Given the description of an element on the screen output the (x, y) to click on. 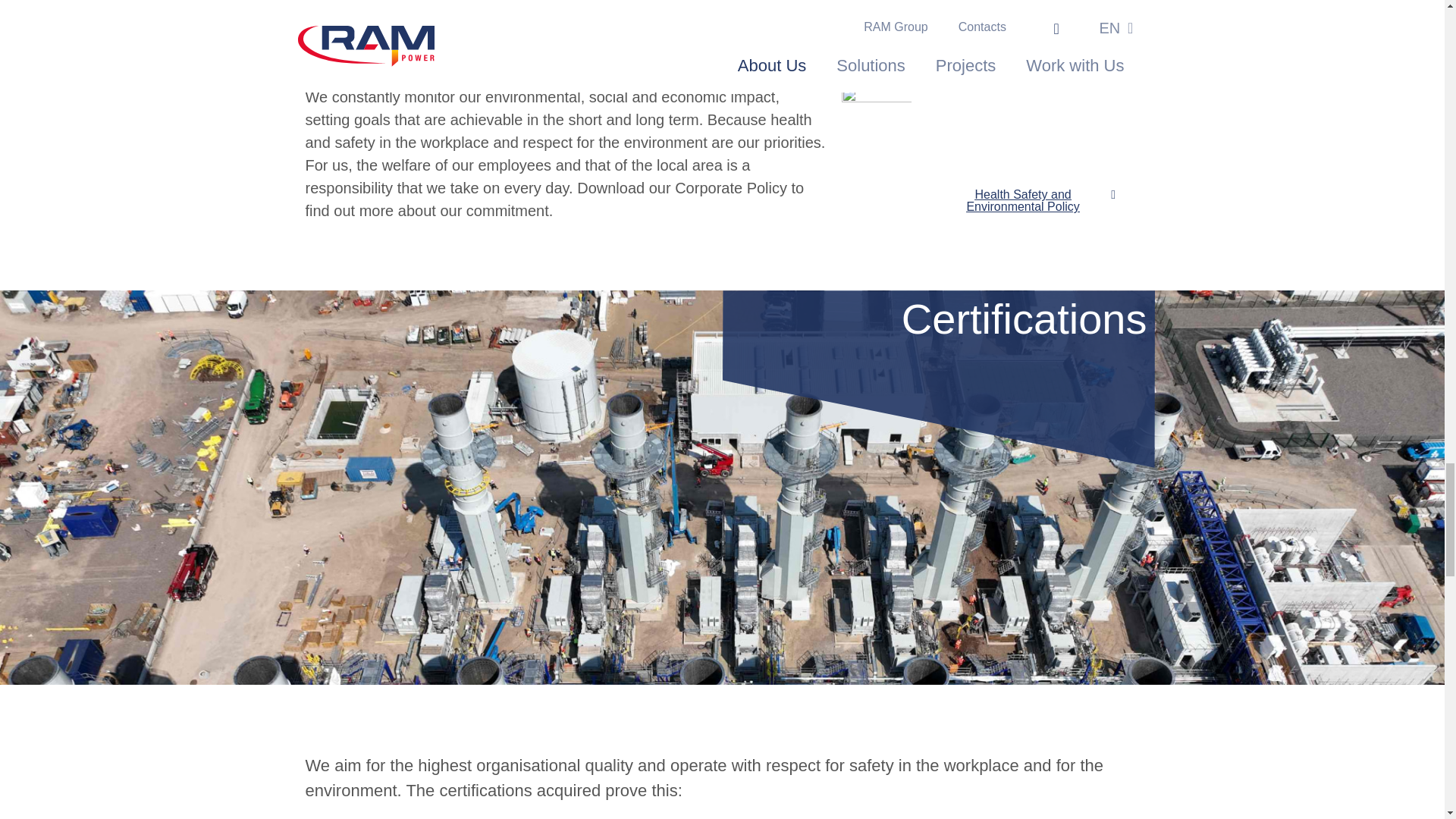
Health Safety and Environmental Policy (1030, 200)
